Given the description of an element on the screen output the (x, y) to click on. 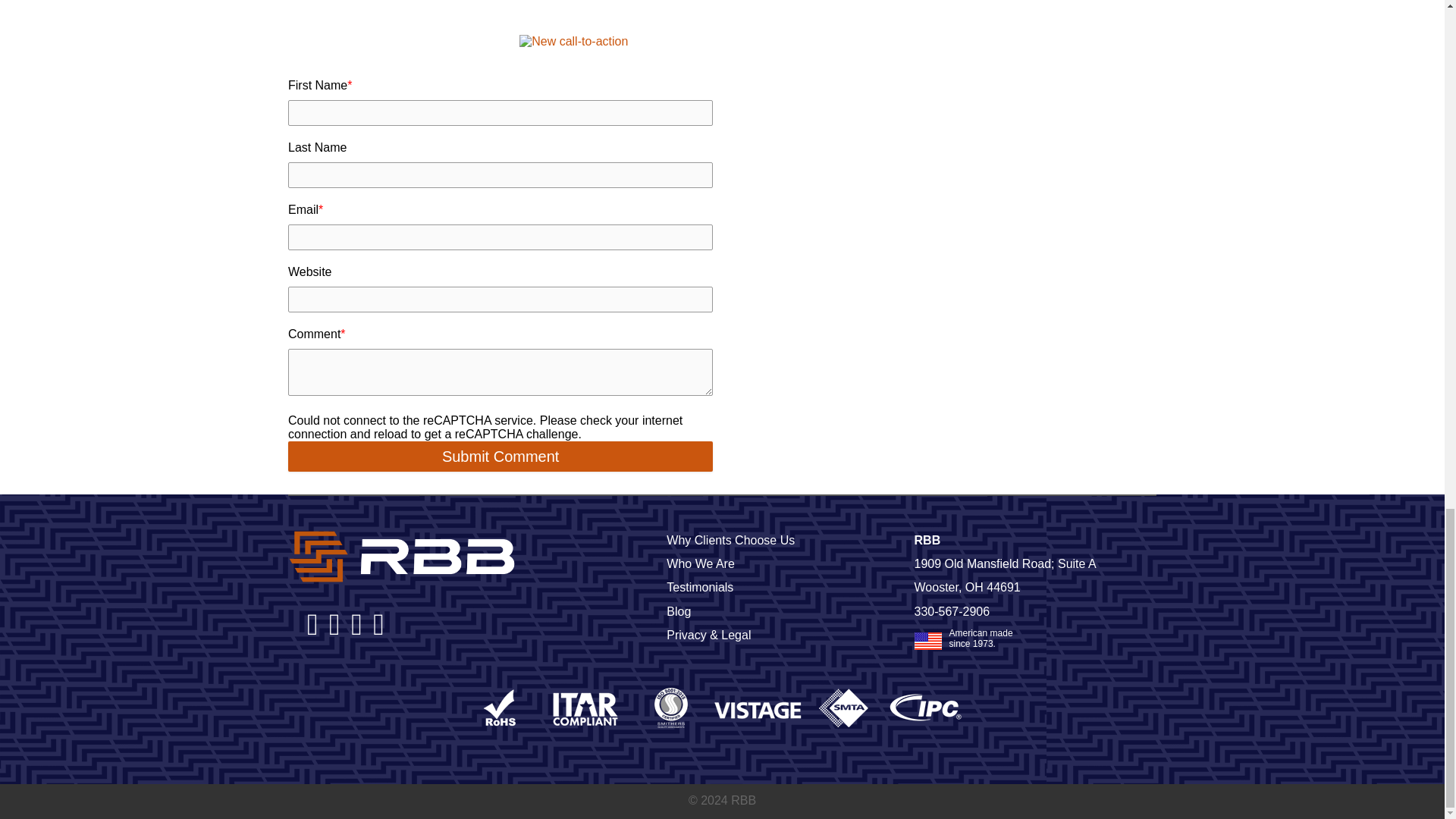
Submit Comment (500, 456)
footerCerts2018.png (721, 707)
